Given the description of an element on the screen output the (x, y) to click on. 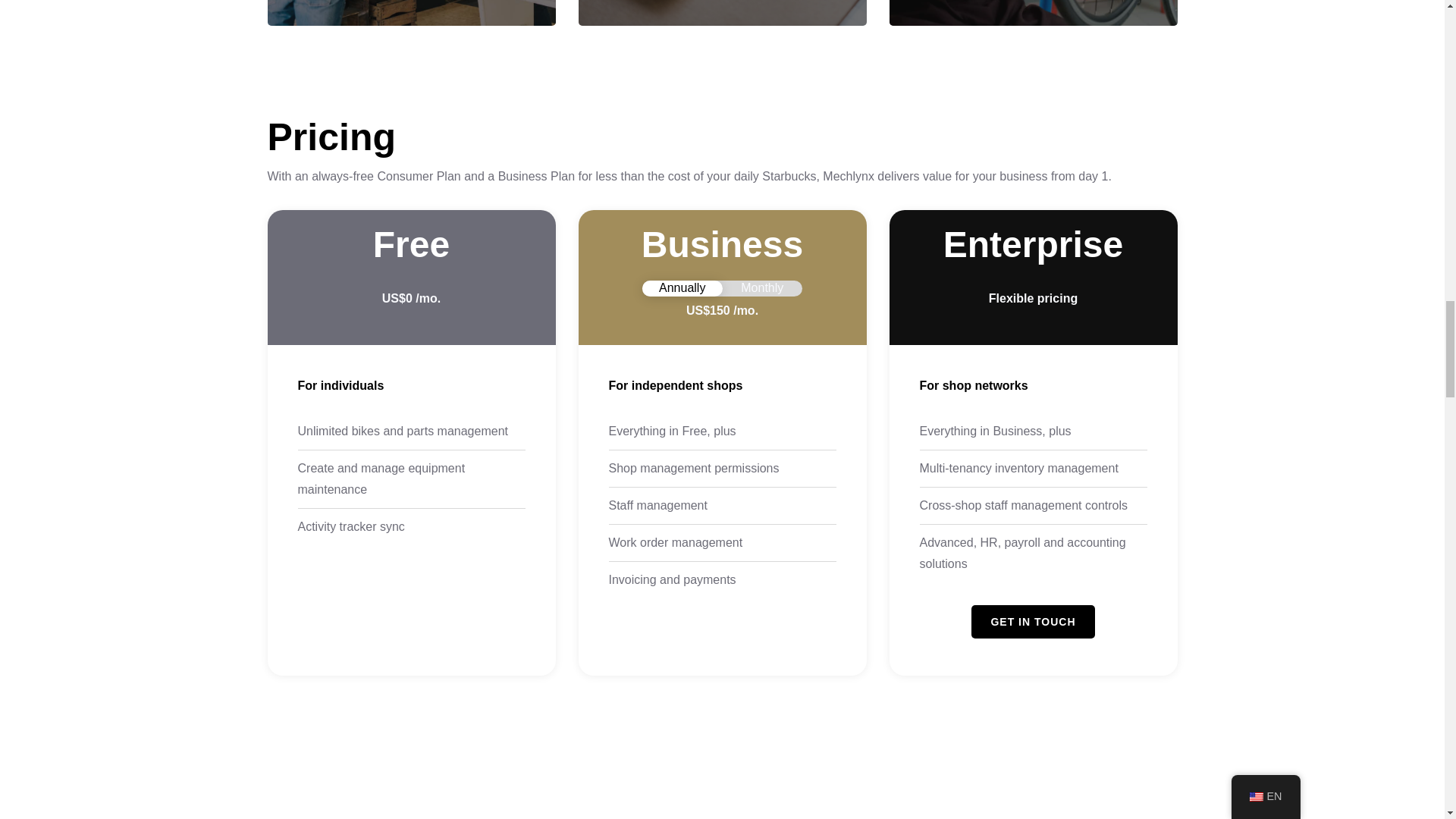
GET IN TOUCH (1032, 622)
